Given the description of an element on the screen output the (x, y) to click on. 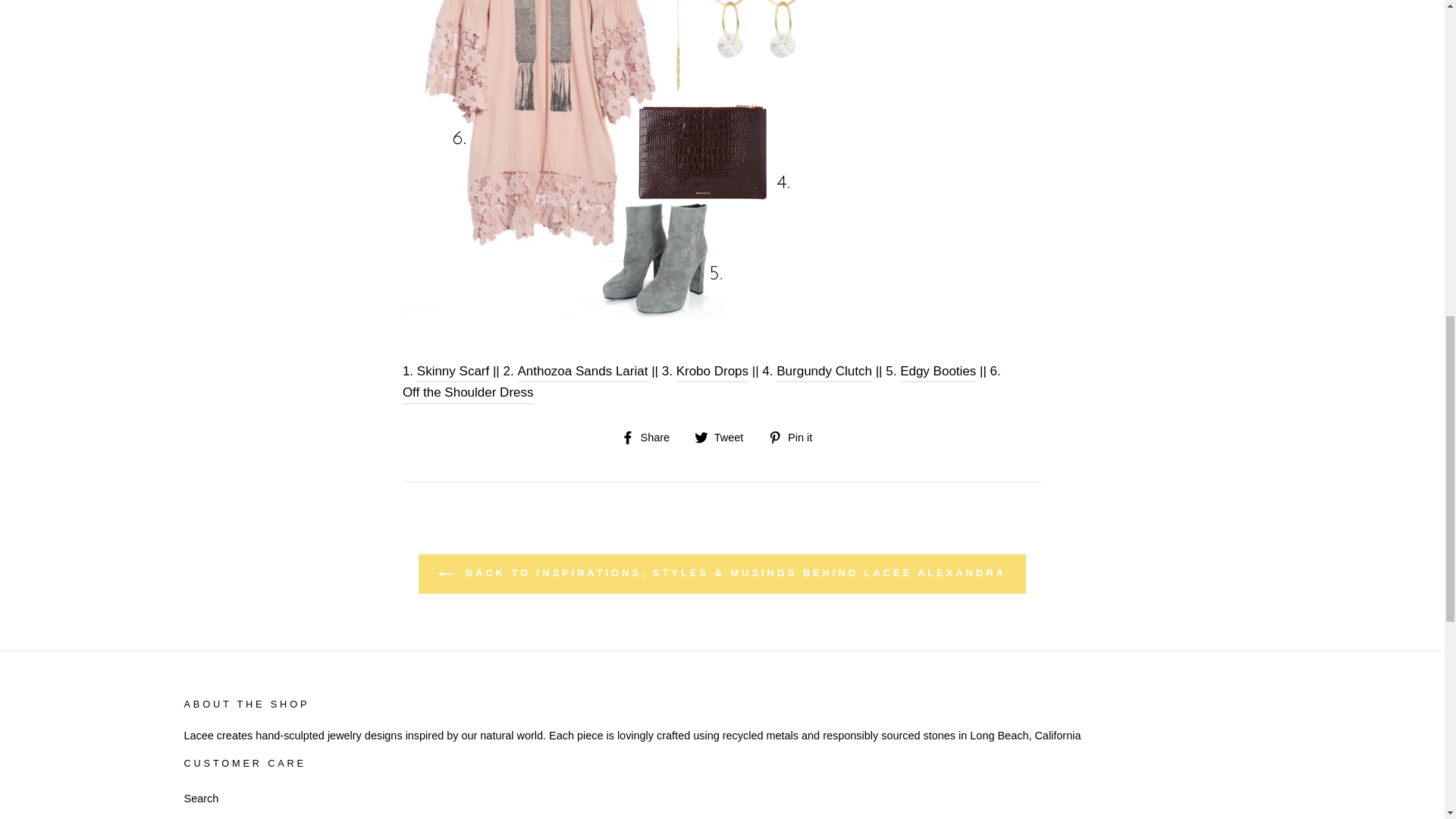
Edgy Gray Boot (937, 371)
Long Layering Lariat in Gold (581, 371)
Tweet on Twitter (724, 436)
Skinny Scarf (452, 371)
Off the shoulder dress (468, 392)
Burgundy Clutch (824, 371)
Recycled Gold Vermeil Earrings (712, 371)
Share on Facebook (651, 436)
Pin on Pinterest (796, 436)
